Given the description of an element on the screen output the (x, y) to click on. 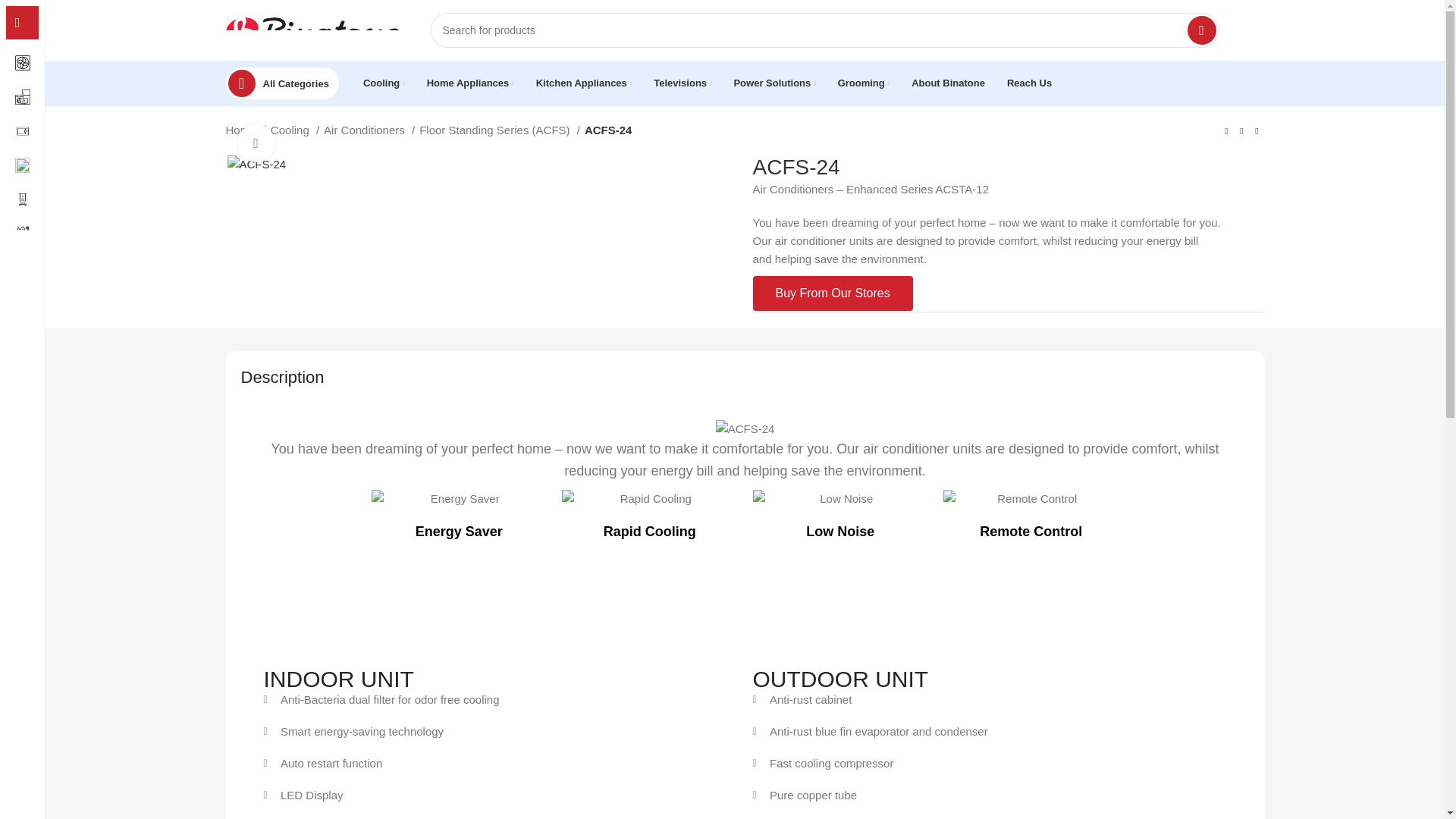
All Categories (282, 82)
Search for products (825, 30)
SEARCH (1201, 30)
Cooling (383, 82)
ACFS-24 (256, 164)
Rapid Cooling (650, 498)
Kitchen Appliances (584, 82)
Home Appliances (469, 82)
Remote Control (1031, 498)
Low Noise (840, 498)
